Given the description of an element on the screen output the (x, y) to click on. 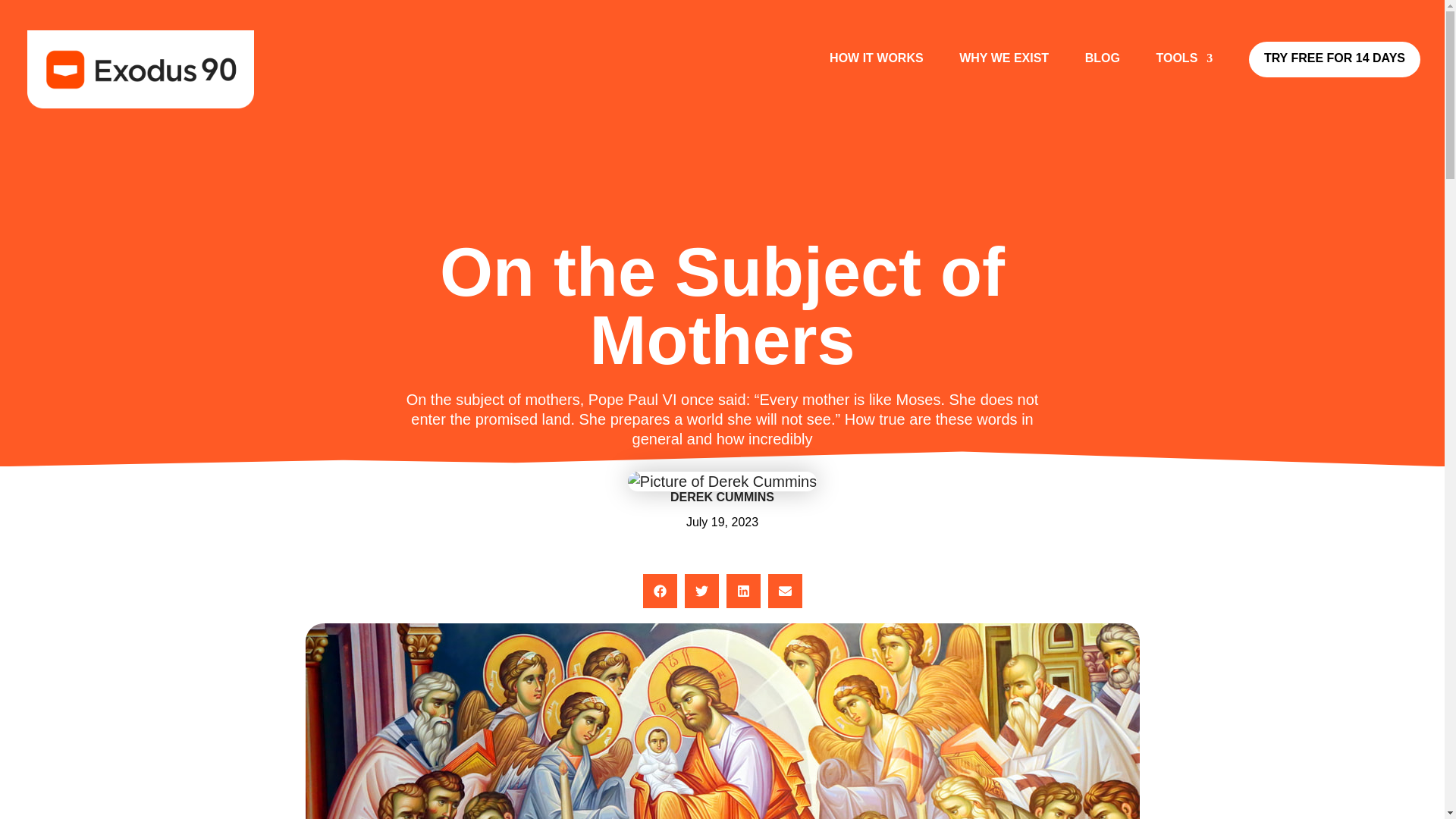
Back to all articles (722, 107)
WHY WE EXIST (1003, 72)
BLOG (1101, 72)
July 19, 2023 (721, 522)
TRY FREE FOR 14 DAYS (1335, 58)
TOOLS (1184, 72)
HOW IT WORKS (876, 72)
Sign up for Free (1335, 58)
